Given the description of an element on the screen output the (x, y) to click on. 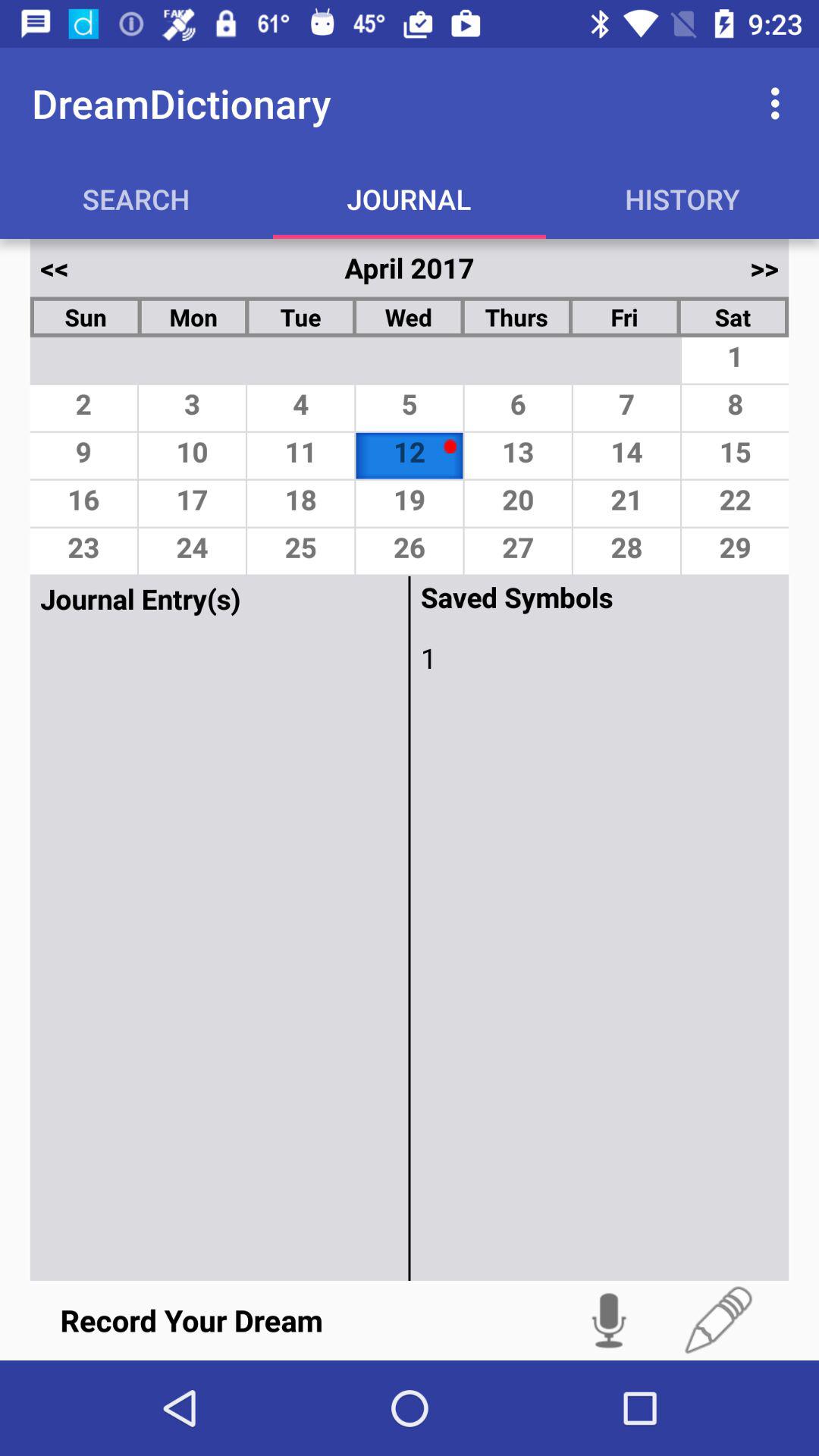
press the >> (763, 267)
